Given the description of an element on the screen output the (x, y) to click on. 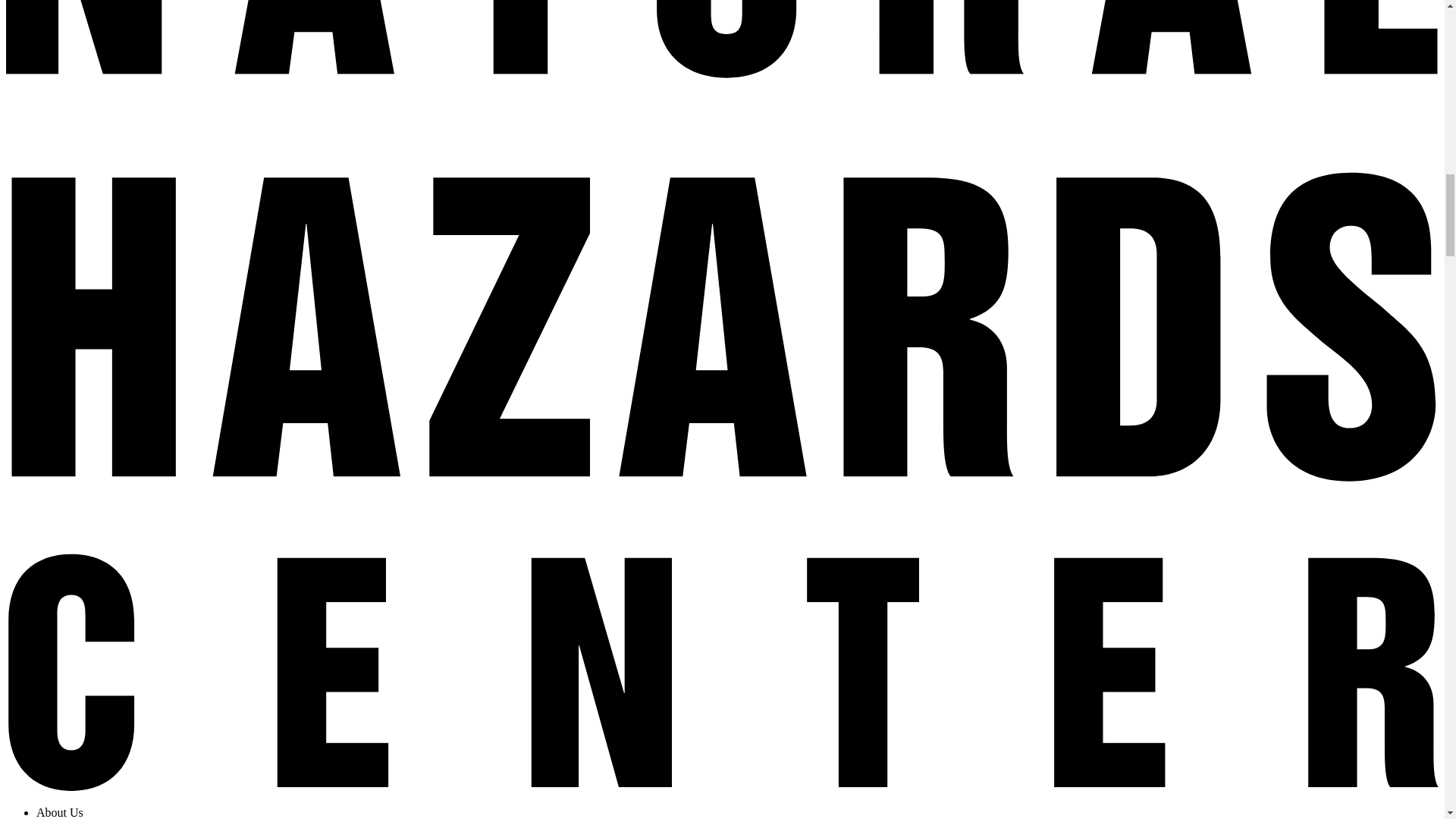
About Us (59, 812)
